Given the description of an element on the screen output the (x, y) to click on. 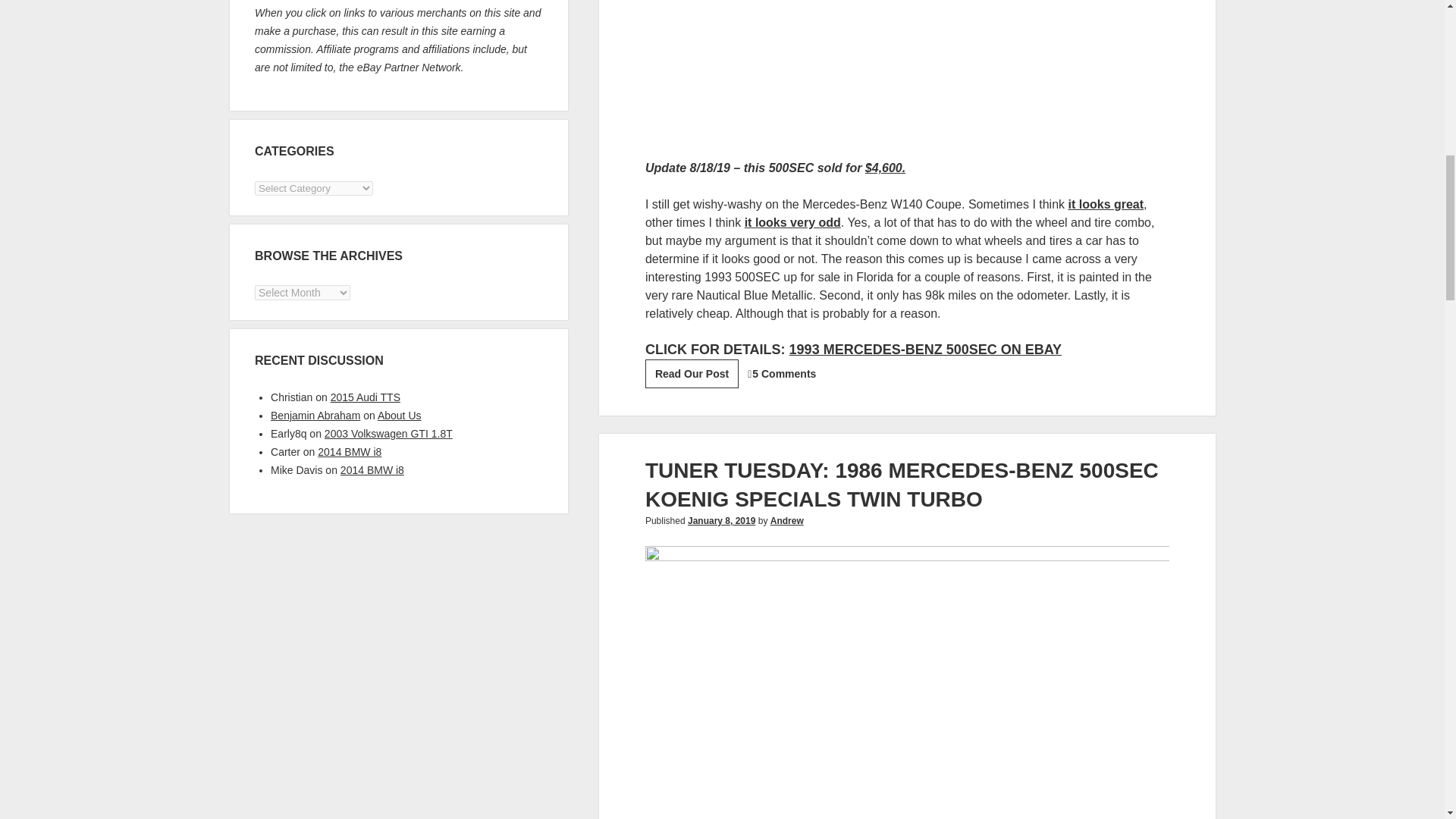
January 8, 2019 (721, 520)
5 Comments (691, 373)
Andrew (783, 373)
it looks great (786, 520)
1993 MERCEDES-BENZ 500SEC ON EBAY (1106, 204)
it looks very odd (925, 349)
